Given the description of an element on the screen output the (x, y) to click on. 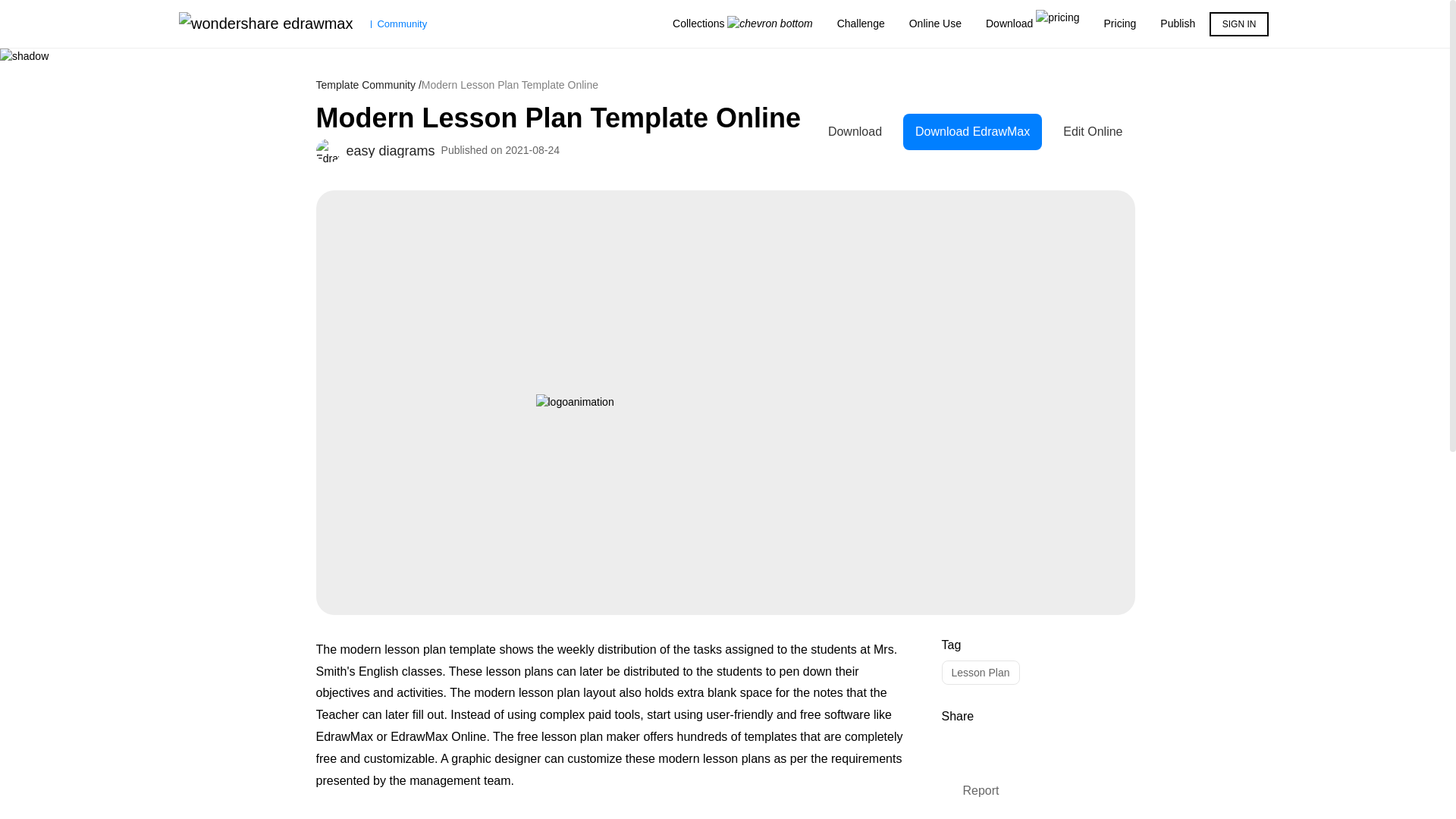
Download (1033, 23)
Modern Lesson Plan Template Online (565, 117)
Pricing (1120, 23)
SIGN IN (1239, 22)
Download EdrawMax (976, 131)
Challenge (860, 23)
Collections (743, 23)
Online Use (935, 23)
Community (302, 23)
Publish (1177, 23)
Lesson Plan (981, 672)
